Given the description of an element on the screen output the (x, y) to click on. 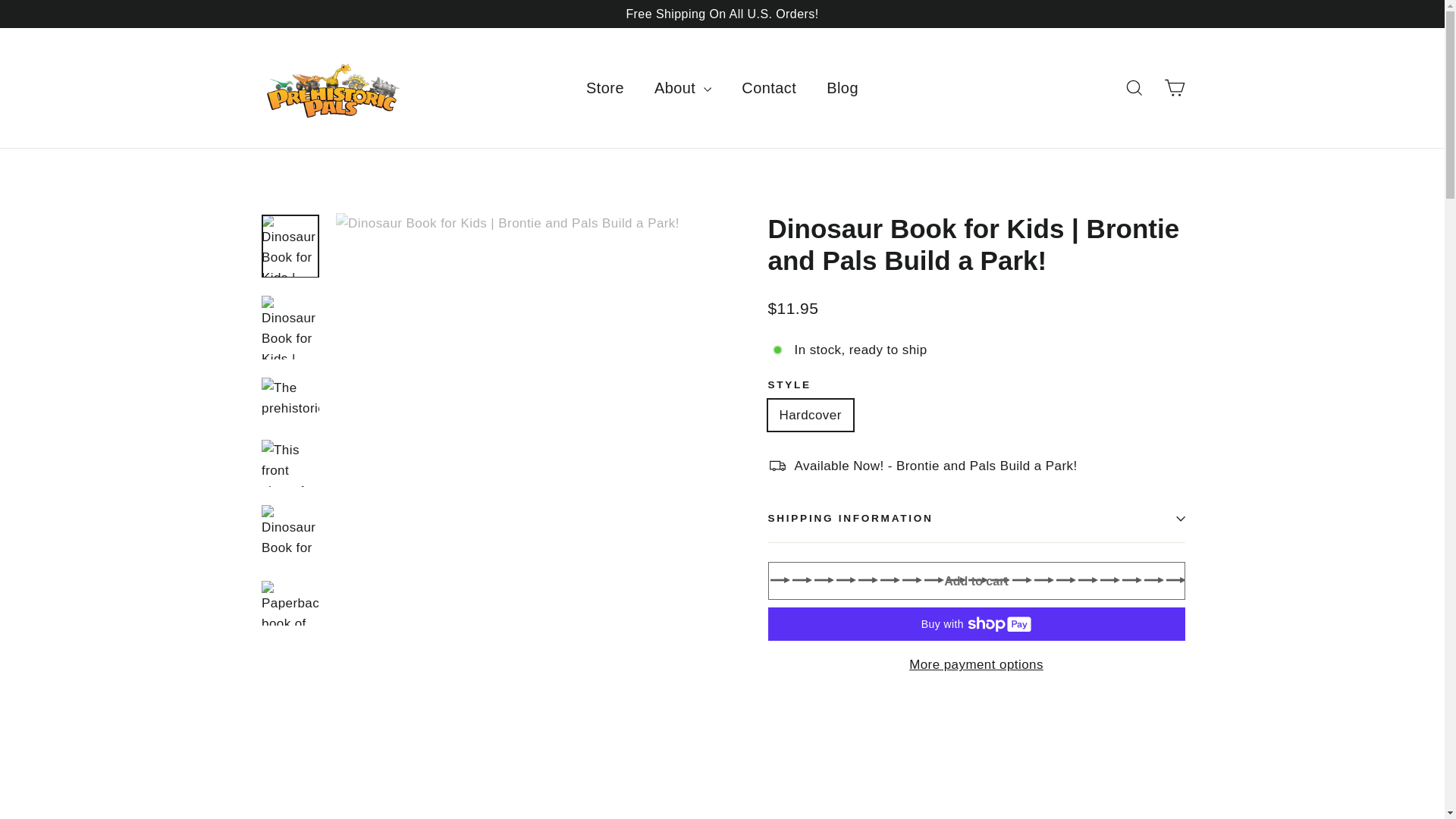
About (682, 87)
Search (1134, 87)
Contact (768, 87)
Blog (841, 87)
Cart (1173, 87)
Store (604, 87)
